Given the description of an element on the screen output the (x, y) to click on. 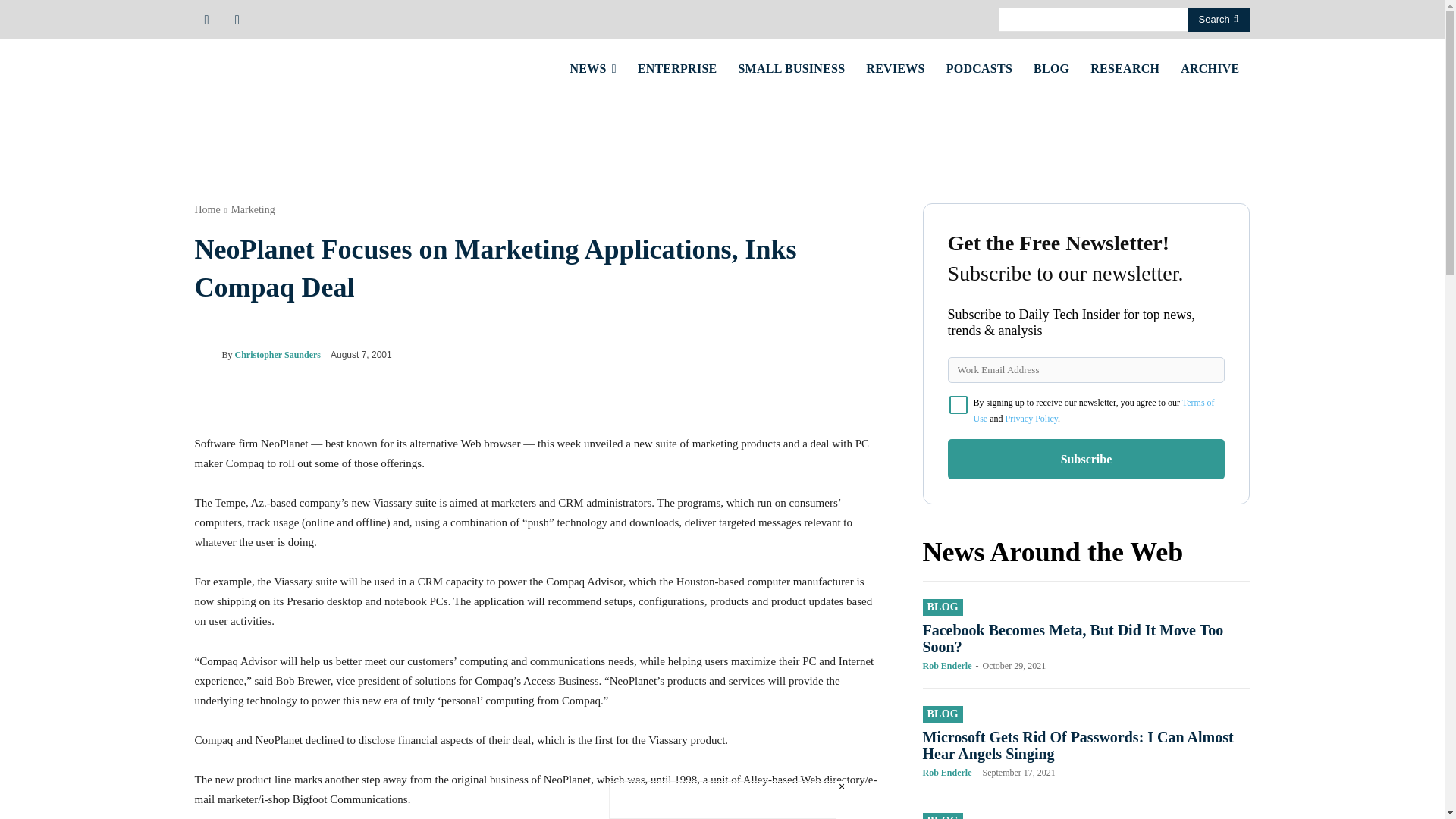
PODCASTS (979, 68)
Christopher Saunders (207, 354)
Search (1219, 19)
BLOG (1051, 68)
ARCHIVE (1209, 68)
Facebook (205, 18)
REVIEWS (895, 68)
Twitter (236, 18)
RESEARCH (1125, 68)
NEWS (593, 68)
